Given the description of an element on the screen output the (x, y) to click on. 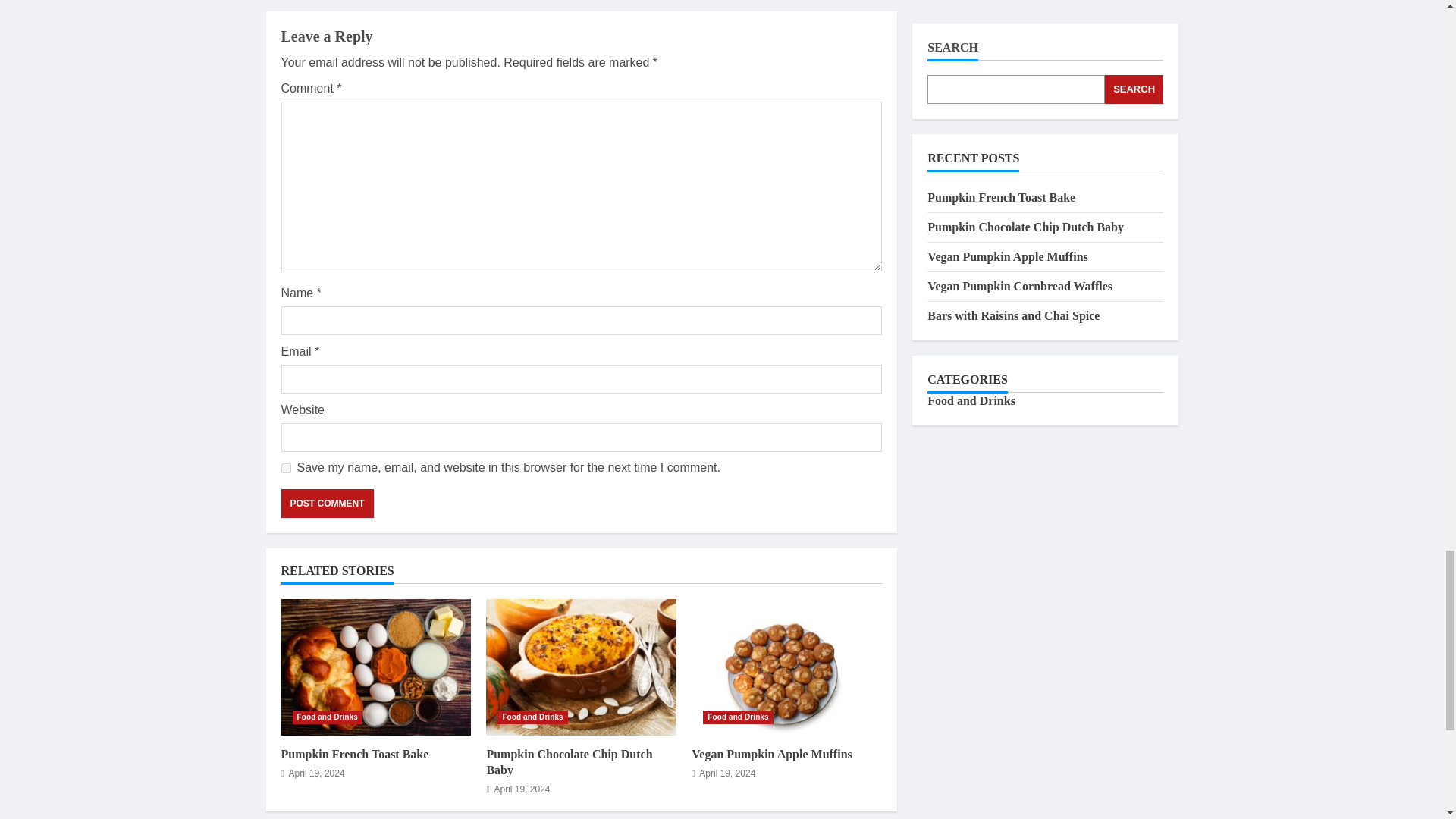
Pumpkin French Toast Bake (375, 666)
Post Comment (326, 502)
Pumpkin Chocolate Chip Dutch Baby (569, 761)
Pumpkin Chocolate Chip Dutch Baby (581, 666)
Post Comment (326, 502)
yes (285, 468)
Vegan Pumpkin Apple Muffins (786, 666)
Food and Drinks (327, 716)
Food and Drinks (532, 716)
Vegan Pumpkin Apple Muffins (771, 753)
Food and Drinks (738, 716)
Pumpkin French Toast Bake (354, 753)
